Given the description of an element on the screen output the (x, y) to click on. 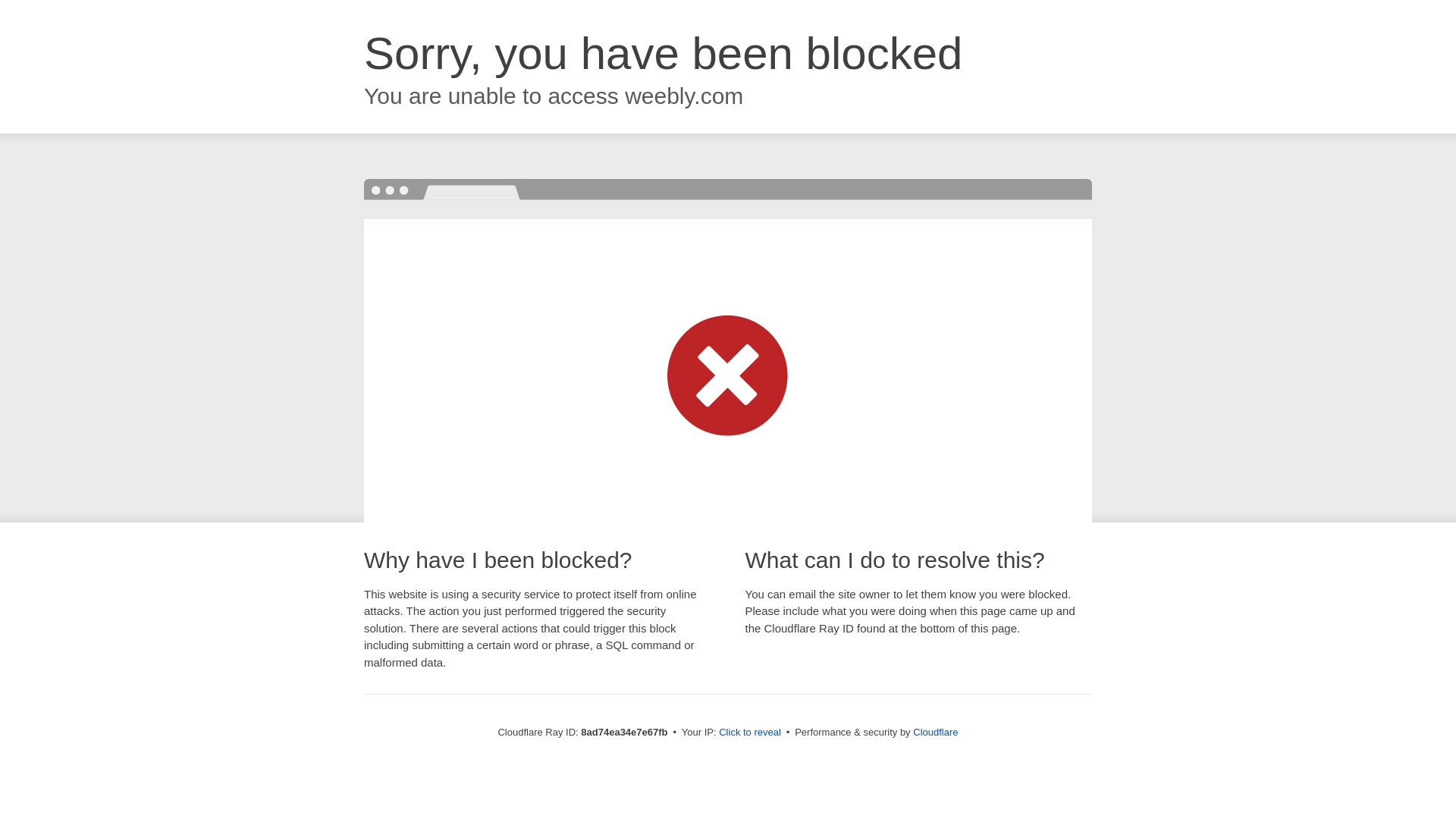
Cloudflare (935, 731)
Click to reveal (749, 732)
